Given the description of an element on the screen output the (x, y) to click on. 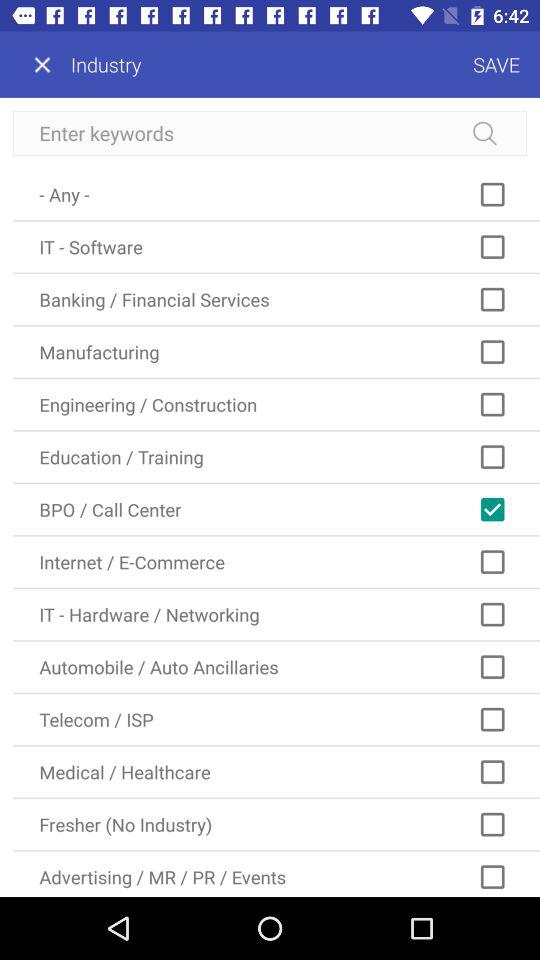
launch icon above medical / healthcare icon (276, 719)
